Given the description of an element on the screen output the (x, y) to click on. 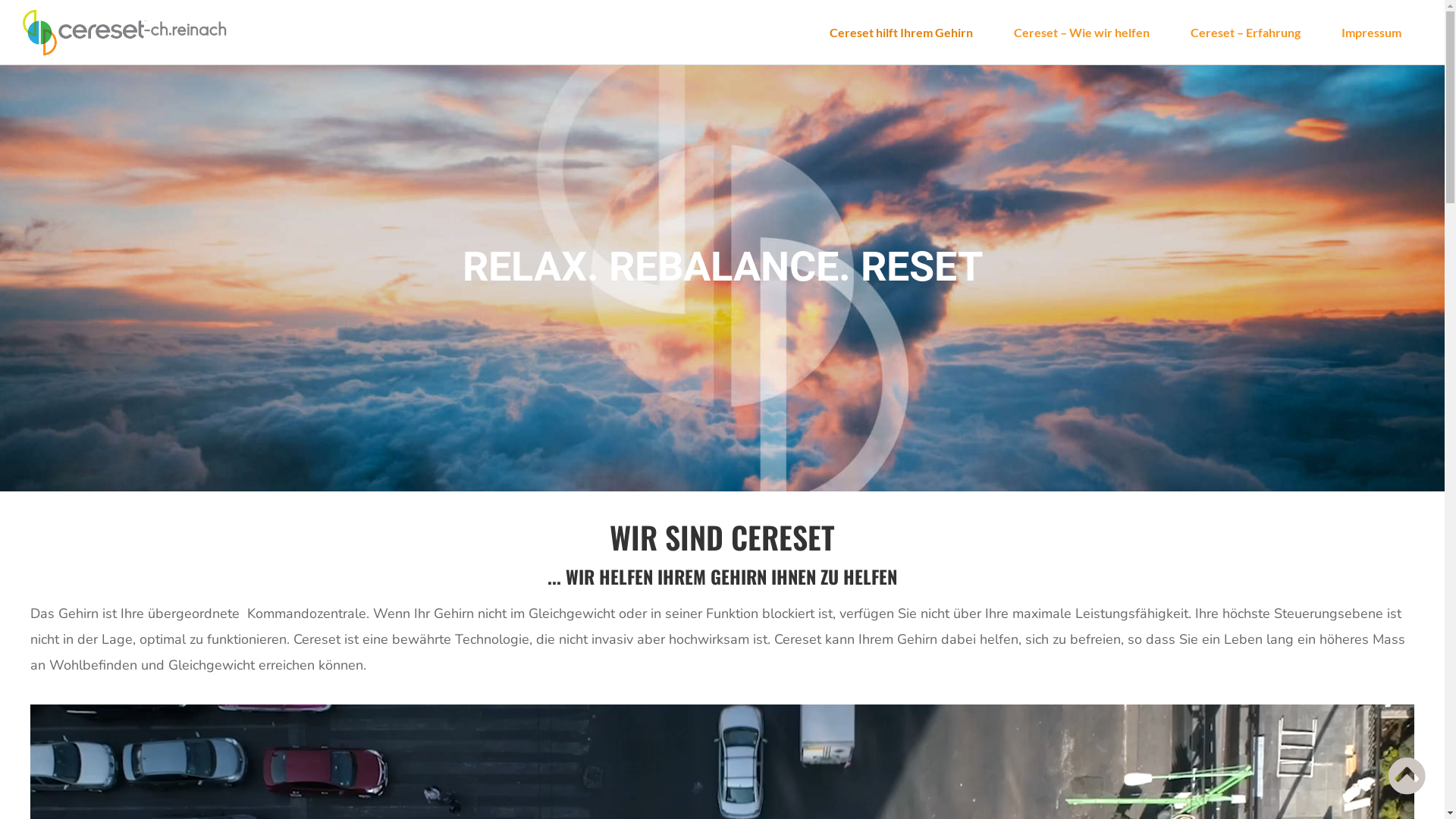
Cereset hilft Ihrem Gehirn Element type: text (901, 32)
Impressum Element type: text (1371, 32)
